Given the description of an element on the screen output the (x, y) to click on. 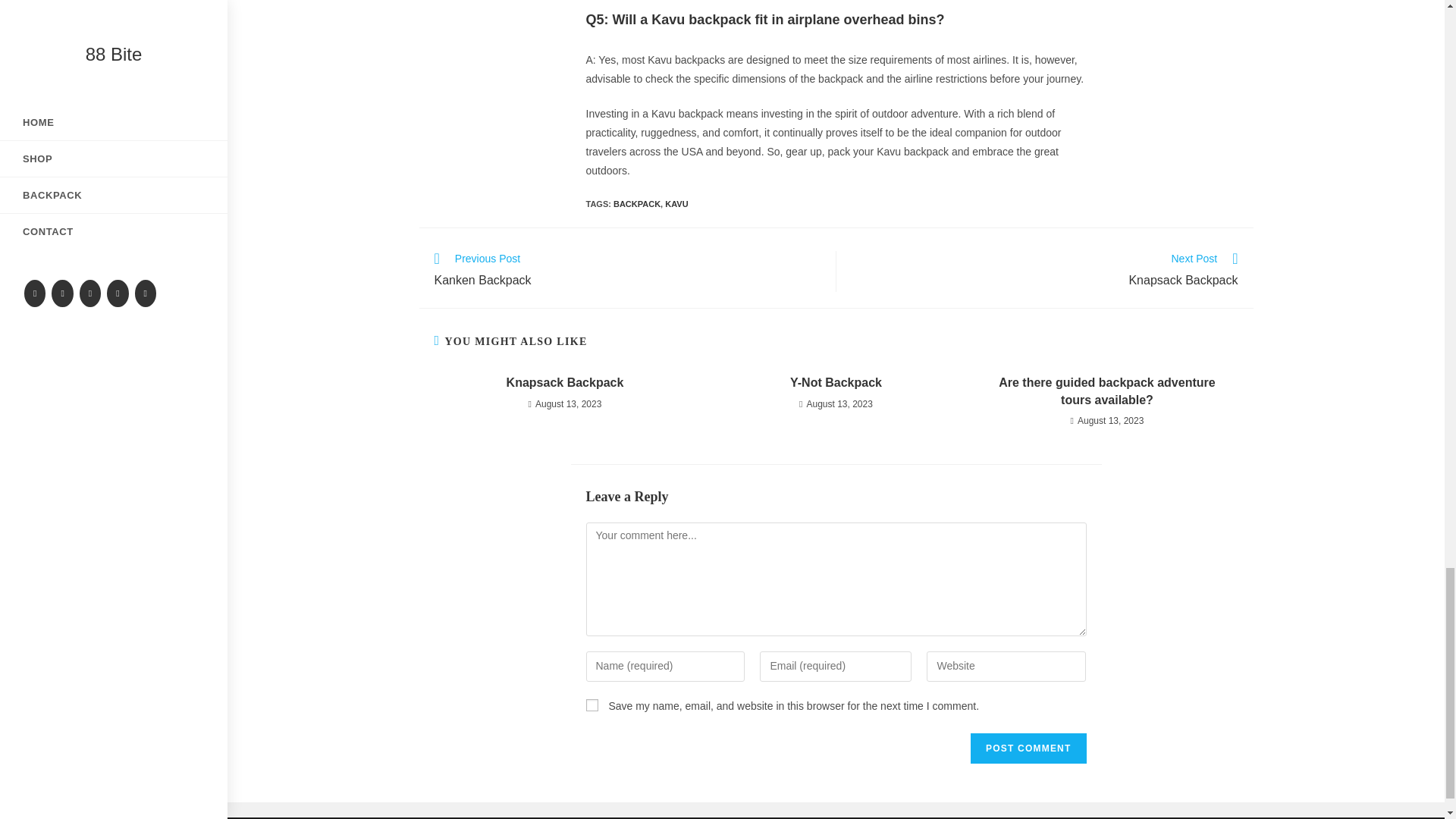
BACKPACK (626, 270)
Y-Not Backpack (636, 203)
KAVU (836, 382)
Post Comment (676, 203)
yes (1028, 748)
Post Comment (590, 705)
Are there guided backpack adventure tours available? (1043, 270)
Knapsack Backpack (1028, 748)
